Given the description of an element on the screen output the (x, y) to click on. 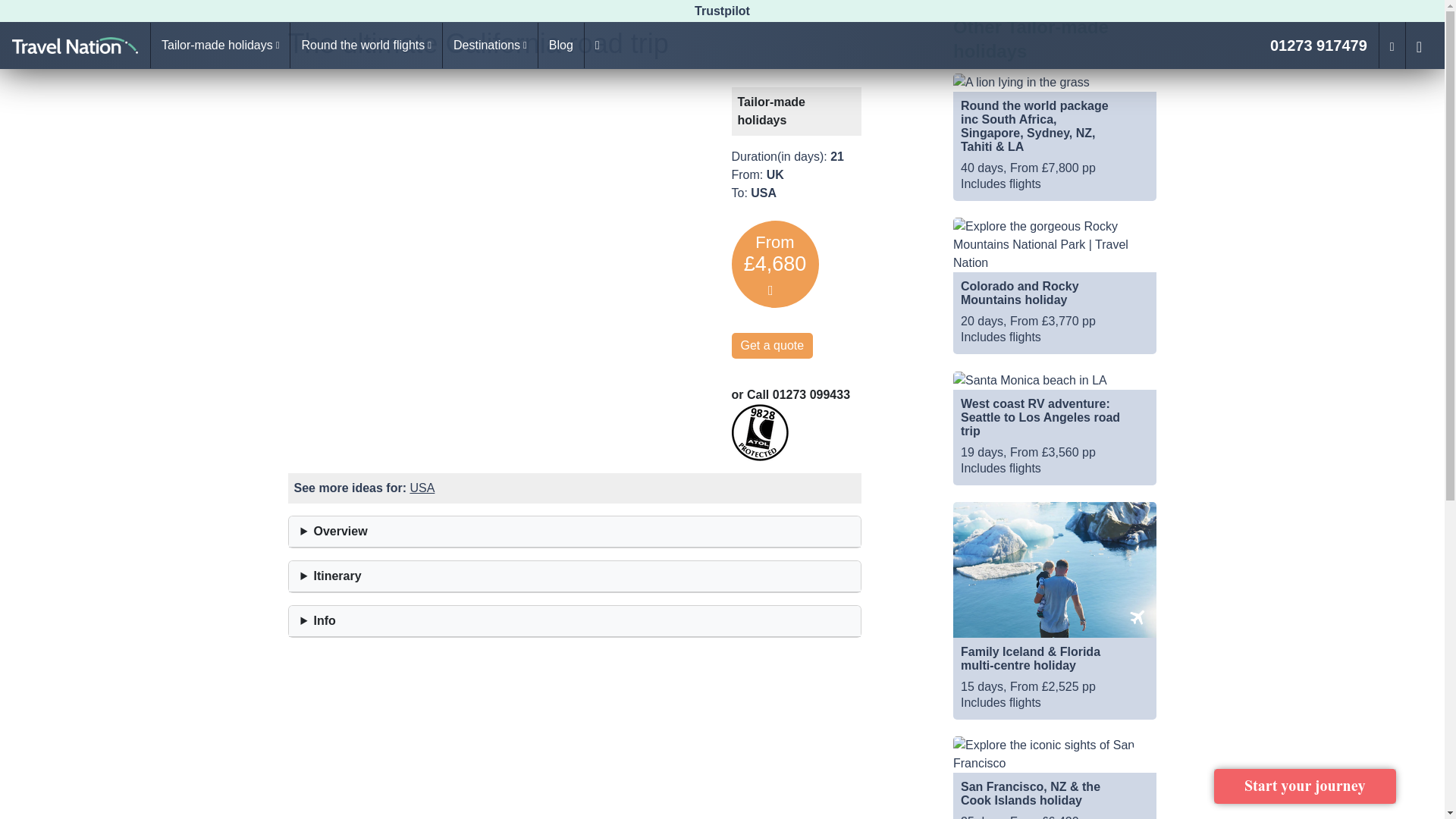
Get a quote for The ultimate California road trip (771, 345)
Round the world flights (365, 44)
Skip to main content (65, 10)
Home (74, 45)
Trustpilot (721, 10)
Tailor-made holidays (219, 44)
ATOL protection logo (758, 432)
